Given the description of an element on the screen output the (x, y) to click on. 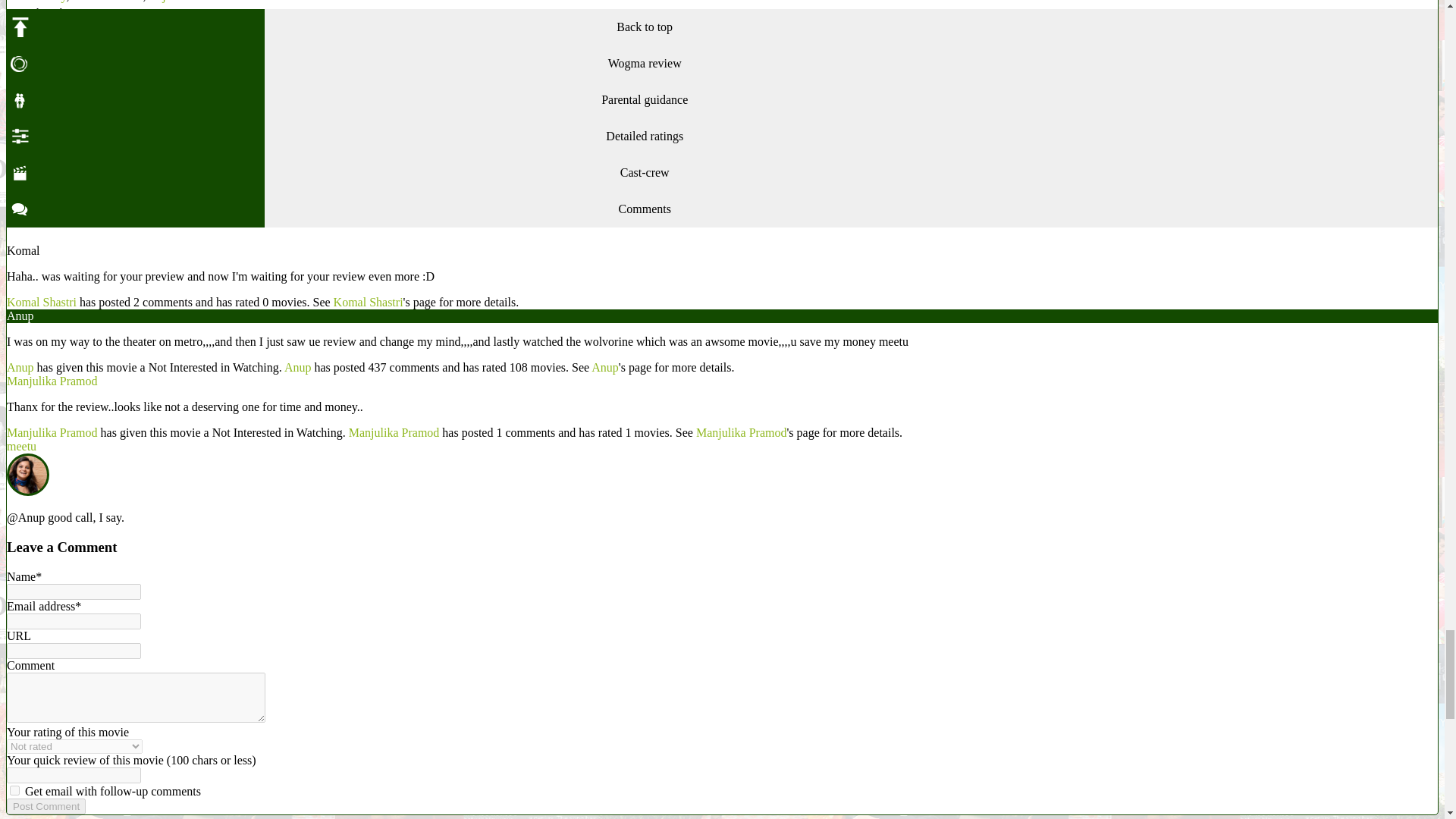
Post Comment (46, 806)
on (15, 790)
